Given the description of an element on the screen output the (x, y) to click on. 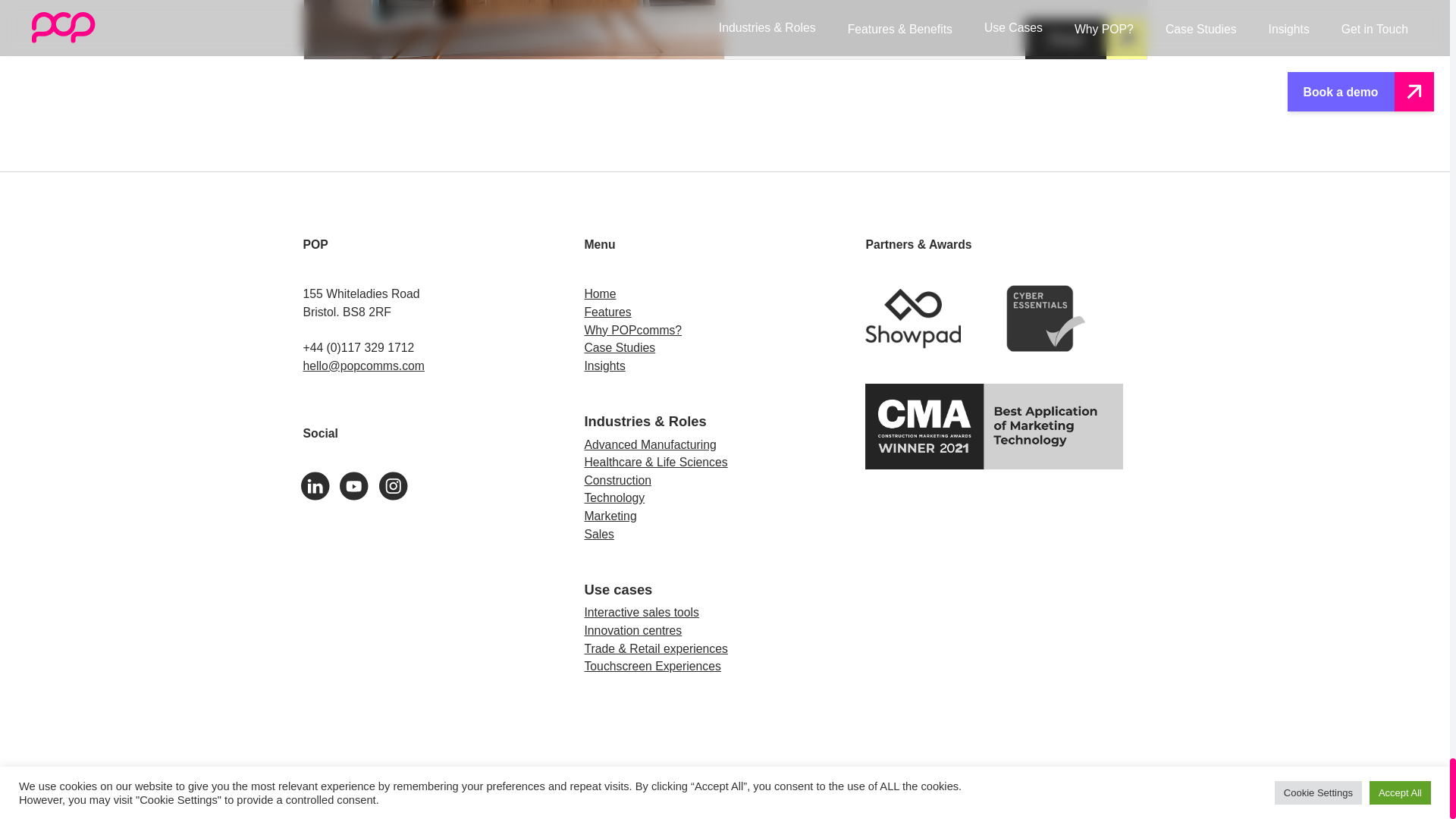
YouTube (361, 484)
Instagram (398, 484)
LinkedIn (322, 484)
